Given the description of an element on the screen output the (x, y) to click on. 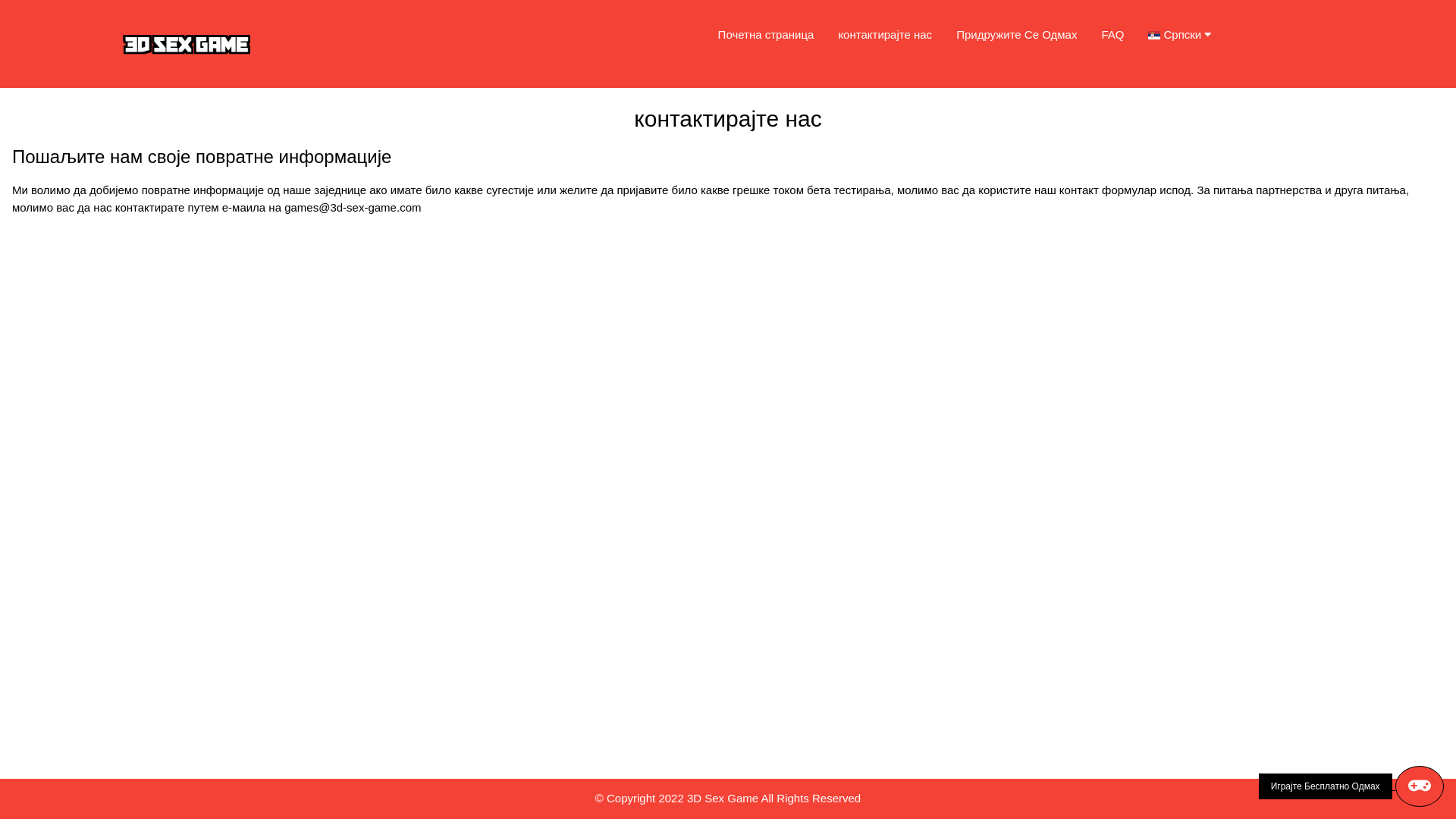
FAQ Element type: text (1111, 35)
